Given the description of an element on the screen output the (x, y) to click on. 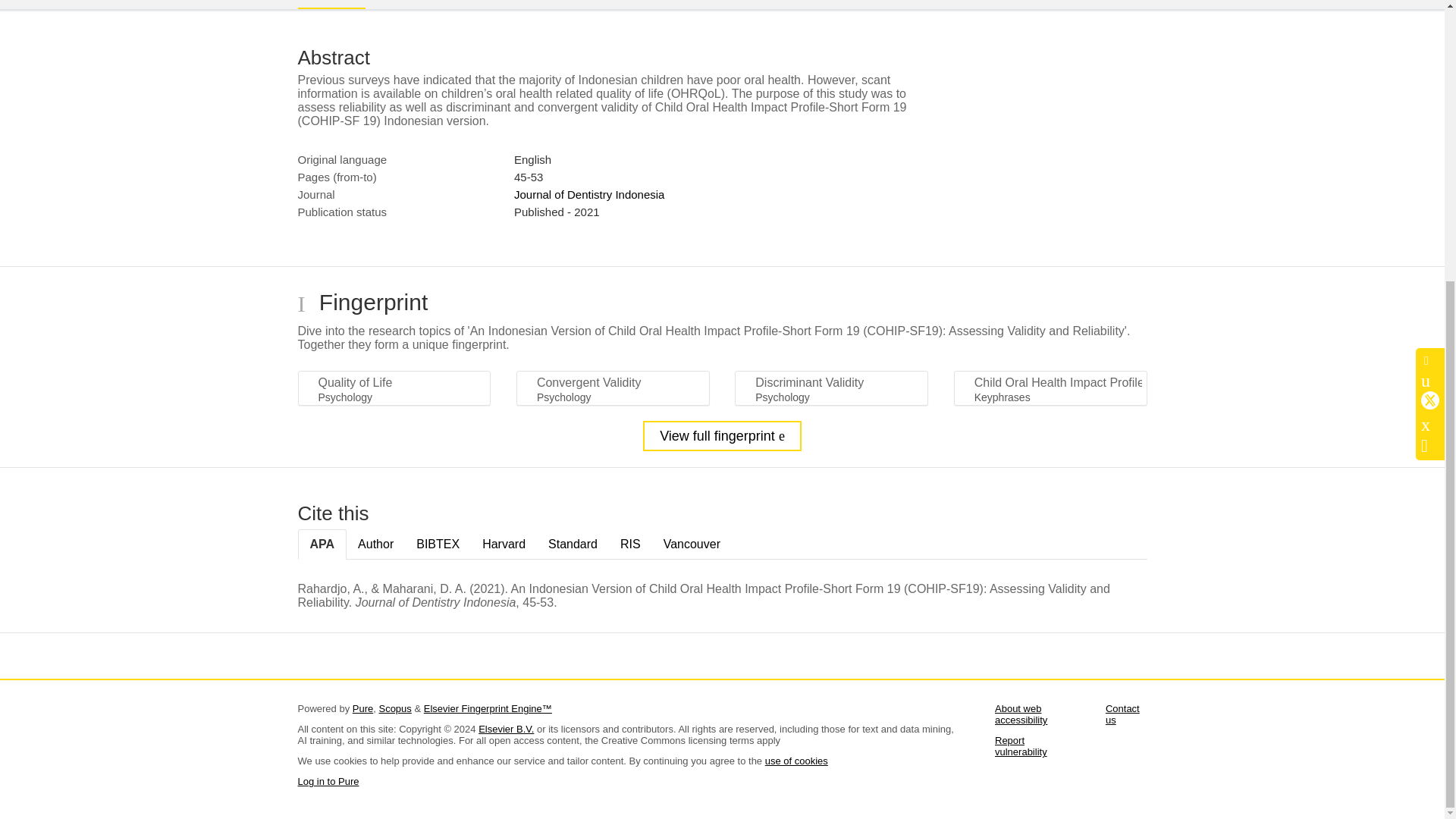
Elsevier B.V. (506, 728)
View full fingerprint (722, 435)
Report vulnerability (1020, 745)
Log in to Pure (327, 781)
Overview (331, 4)
Pure (362, 708)
use of cookies (796, 760)
Journal of Dentistry Indonesia (588, 194)
About web accessibility (1020, 713)
Scopus (394, 708)
